Given the description of an element on the screen output the (x, y) to click on. 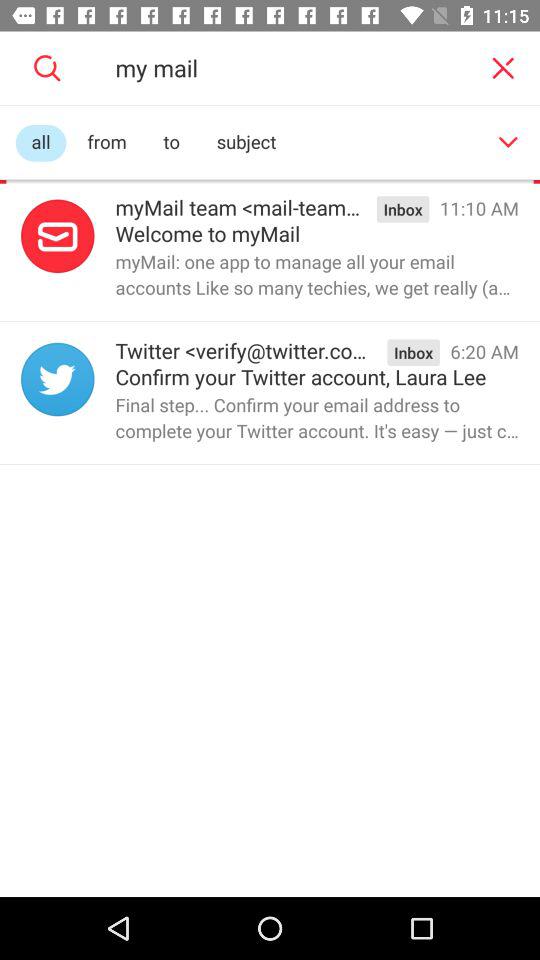
toggle twitter (57, 379)
